Given the description of an element on the screen output the (x, y) to click on. 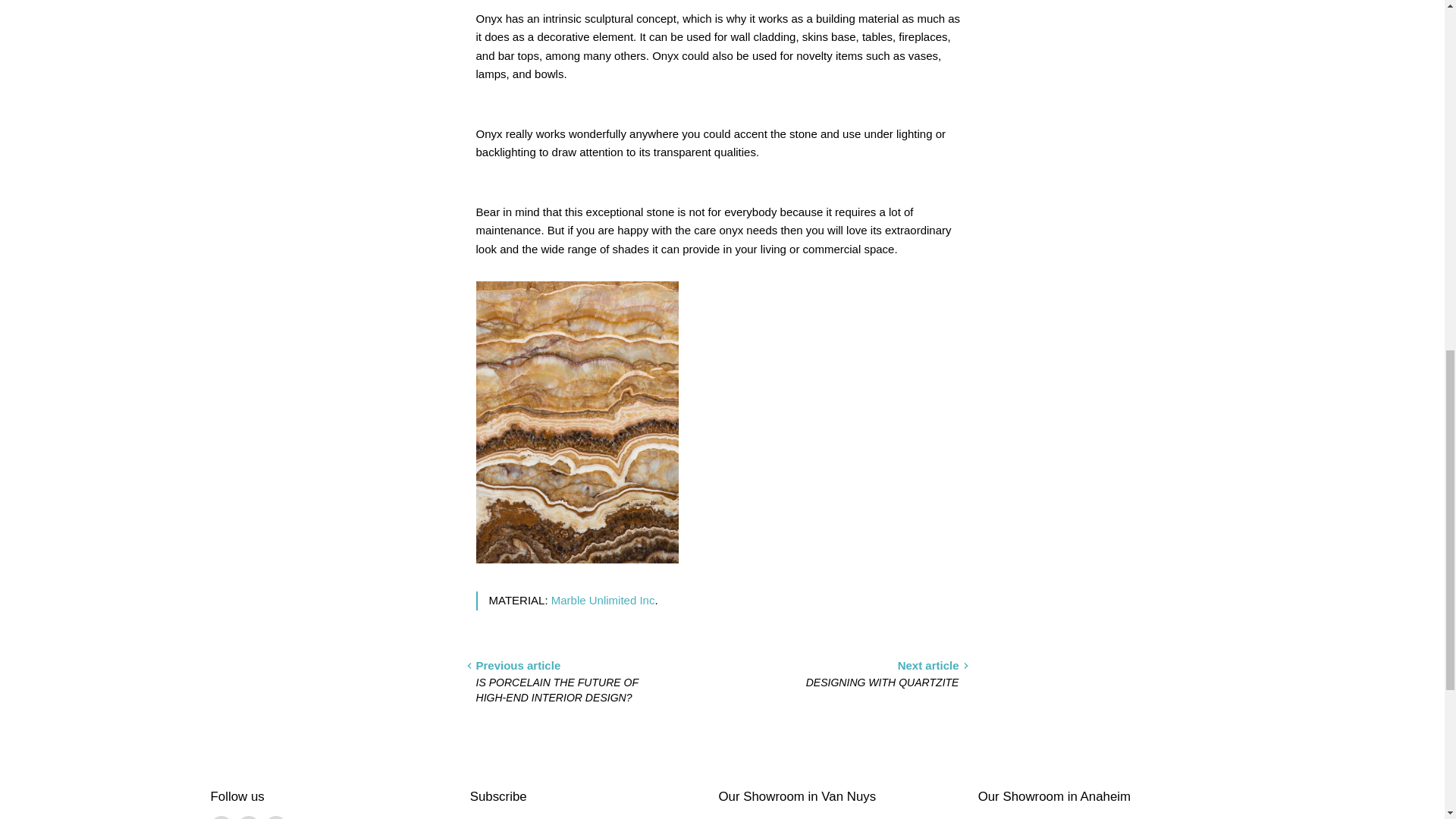
LinkedIn (248, 817)
Email (275, 817)
Instagram (221, 817)
Marble Unlimited Inc (603, 599)
